Given the description of an element on the screen output the (x, y) to click on. 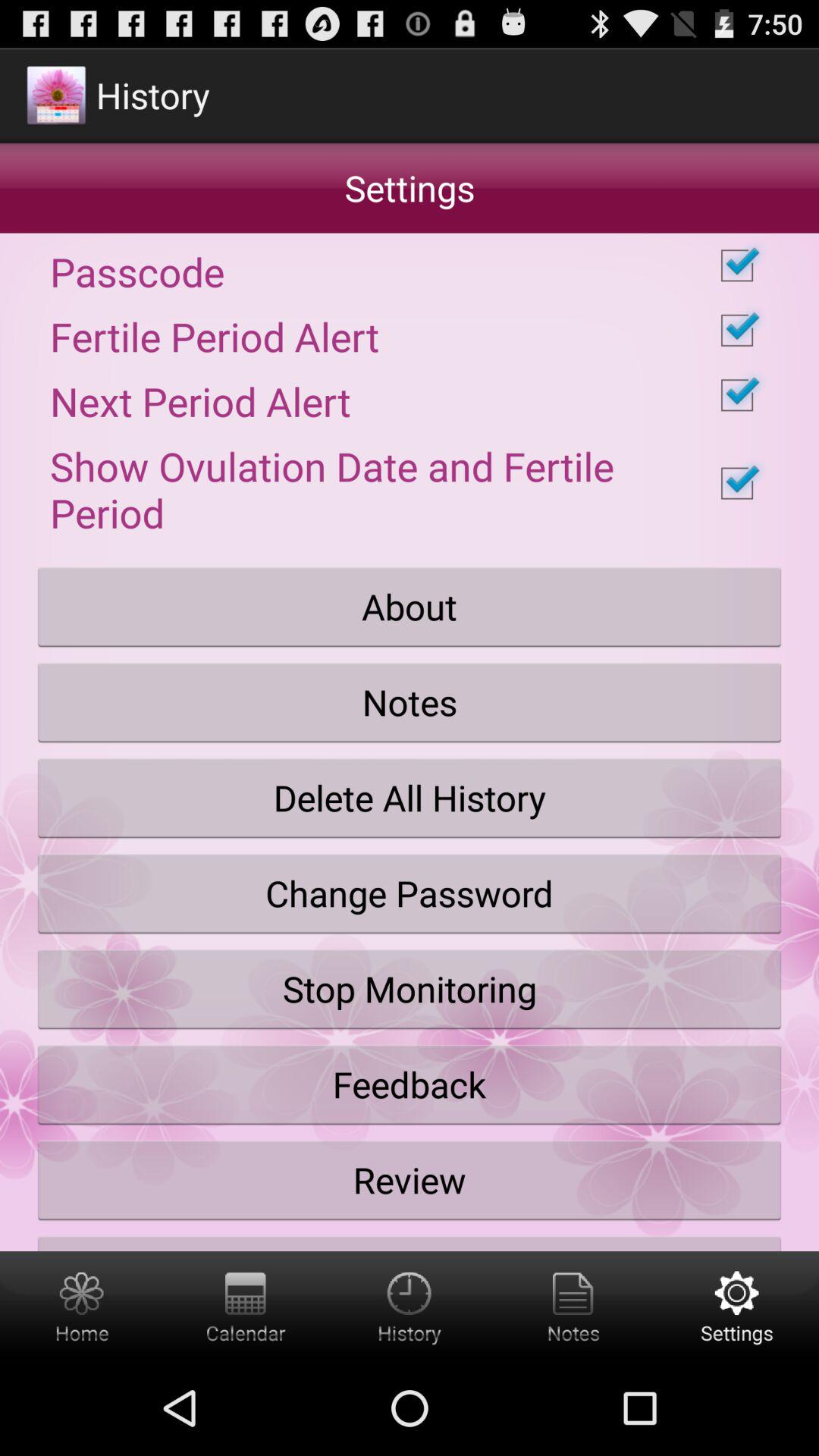
tap feedback icon (409, 1084)
